Given the description of an element on the screen output the (x, y) to click on. 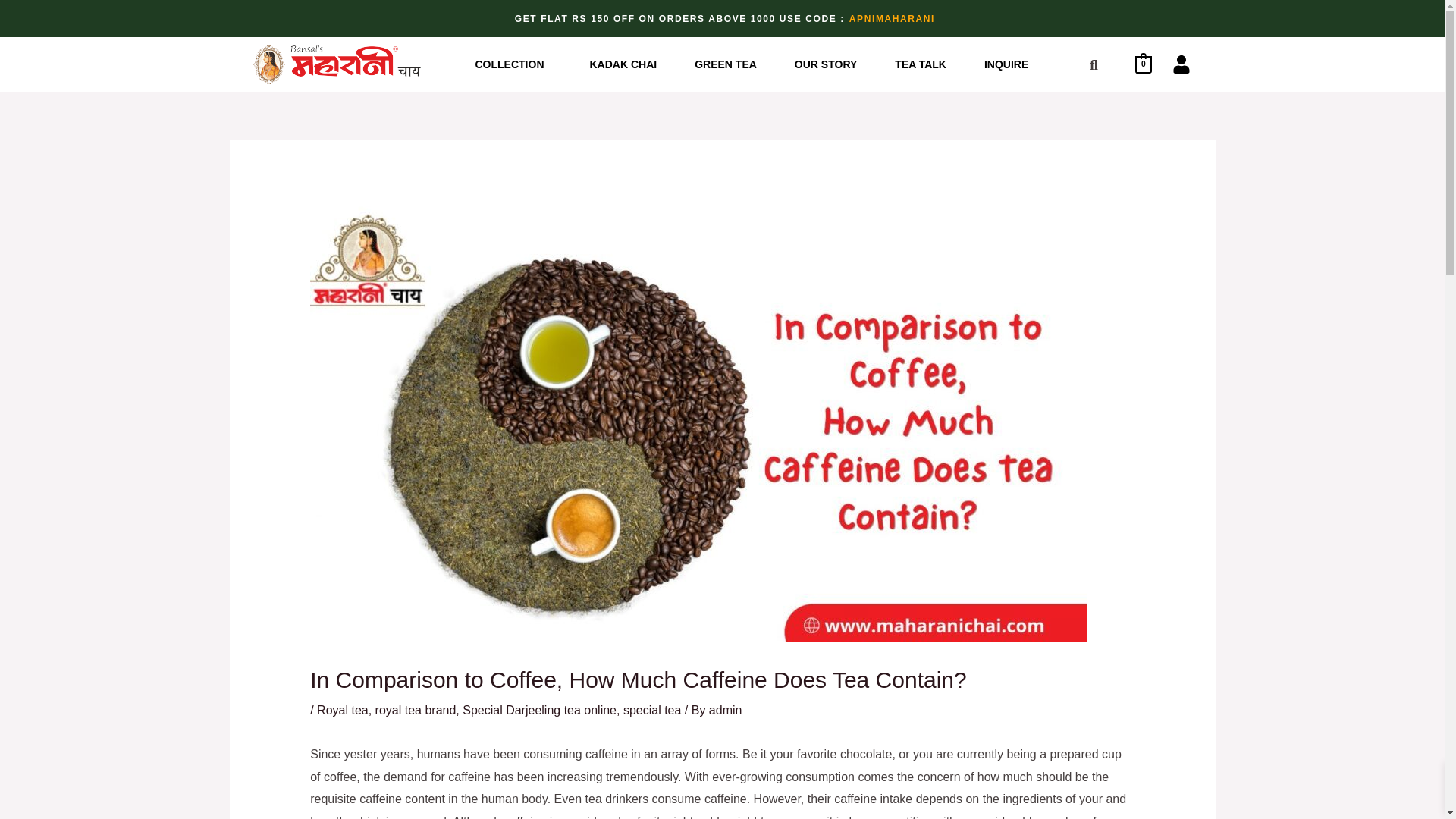
Special Darjeeling tea online (539, 709)
KADAK CHAI (622, 64)
TEA TALK (920, 64)
INQUIRE (1005, 64)
special tea (652, 709)
GREEN TEA (725, 64)
royal tea brand (416, 709)
OUR STORY (826, 64)
admin (725, 709)
View your shopping cart (1143, 63)
